Given the description of an element on the screen output the (x, y) to click on. 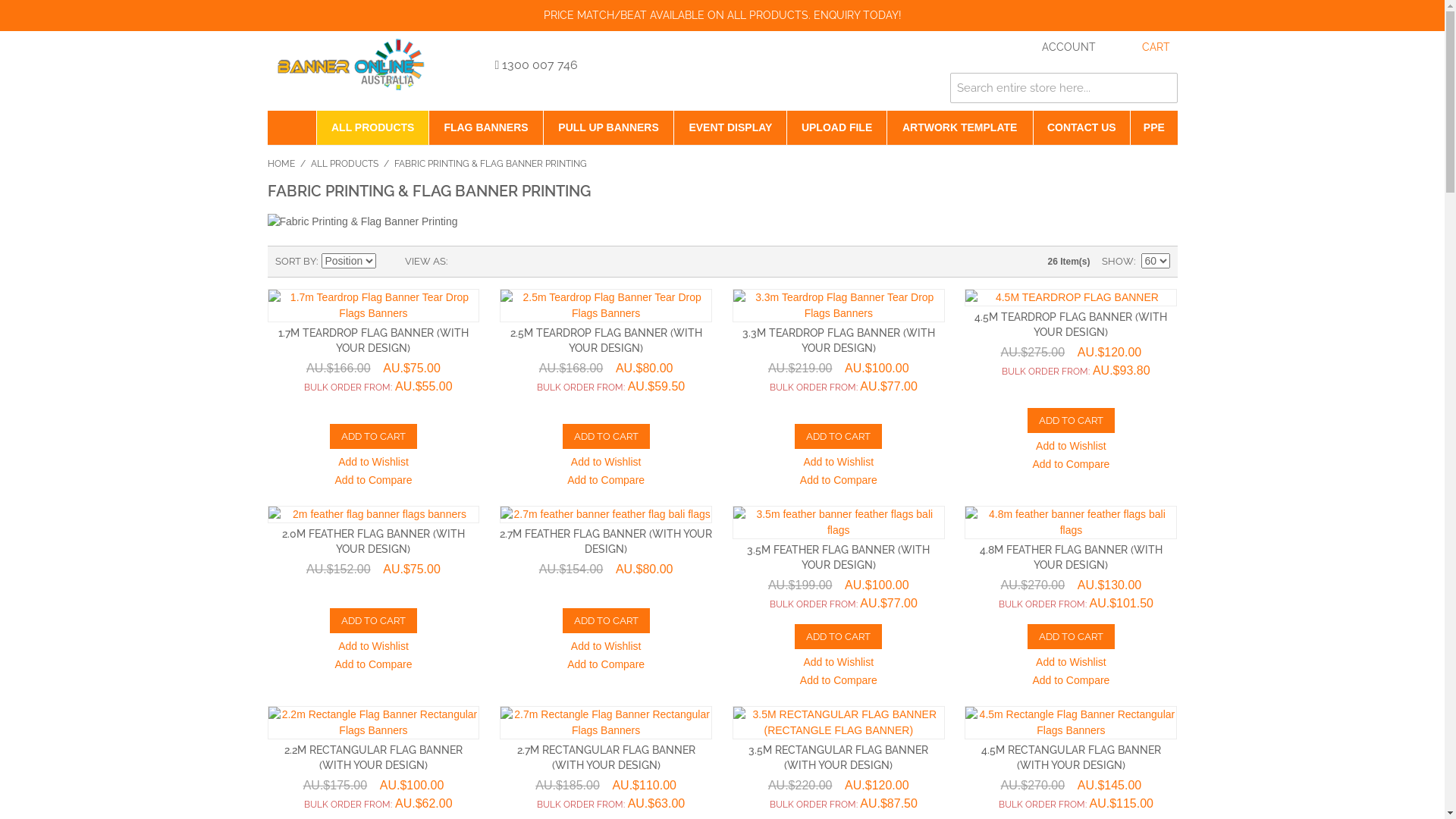
ADD TO CART Element type: text (1070, 636)
Add to Compare Element type: text (1070, 681)
Fabric Printing & Flag Banner Printing Element type: hover (721, 221)
ADD TO CART Element type: text (837, 435)
CONTACT US Element type: text (1081, 127)
ALL PRODUCTS Element type: text (344, 163)
BULK ORDER FROM: AU.$93.80 Element type: text (1070, 370)
Home Element type: hover (291, 127)
BULK ORDER FROM: AU.$87.50 Element type: text (838, 803)
PULL UP BANNERS Element type: text (608, 127)
ADD TO CART Element type: text (837, 636)
3.5M RECTANGULAR FLAG BANNER (WITH YOUR DESIGN) Element type: text (838, 757)
3.5M FEATHER FLAG BANNER (WITH YOUR DESIGN) Element type: text (837, 557)
ADD TO CART Element type: text (373, 620)
2.2m Rectangle Flag Banner Rectangular Flags Banners Element type: hover (372, 722)
BULK ORDER FROM: AU.$62.00 Element type: text (372, 803)
3.5M RECTANGULAR FLAG BANNER (RECTANGLE FLAG BANNER)  Element type: hover (838, 722)
CART Element type: text (1140, 47)
HOME Element type: text (280, 163)
Add to Wishlist Element type: text (605, 463)
2m feather flag banner flags banners Element type: hover (372, 514)
2.7m Rectangle Flag Banner Rectangular Flags Banners Element type: hover (605, 722)
Add to Wishlist Element type: text (1070, 447)
Add to Compare Element type: text (1070, 465)
ALL PRODUCTS Element type: text (372, 127)
Add to Wishlist Element type: text (373, 463)
2.2M RECTANGULAR FLAG BANNER (WITH YOUR DESIGN) Element type: text (373, 757)
ADD TO CART Element type: text (605, 435)
3.3M TEARDROP FLAG BANNER (WITH YOUR DESIGN) Element type: text (838, 340)
PPE Element type: text (1153, 127)
BULK ORDER FROM: AU.$77.00 Element type: text (838, 386)
Add to Compare Element type: text (838, 481)
Add to Wishlist Element type: text (373, 647)
1.7M TEARDROP FLAG BANNER (WITH YOUR DESIGN) Element type: text (373, 340)
ARTWORK TEMPLATE Element type: text (959, 127)
Add to Compare Element type: text (373, 481)
UPLOAD FILE Element type: text (836, 127)
ADD TO CART Element type: text (605, 620)
4.5M TEARDROP FLAG BANNER Element type: hover (1070, 297)
ACCOUNT Element type: text (1053, 47)
List Element type: text (488, 261)
Add to Wishlist Element type: text (1070, 663)
BULK ORDER FROM: AU.$59.50 Element type: text (605, 386)
ADD TO CART Element type: text (1070, 420)
Add to Wishlist Element type: text (837, 463)
Add to Compare Element type: text (605, 481)
BULK ORDER FROM: AU.$101.50 Element type: text (1070, 603)
ADD TO CART Element type: text (373, 435)
2.7M RECTANGULAR FLAG BANNER (WITH YOUR DESIGN) Element type: text (606, 757)
BULK ORDER FROM: AU.$77.00 Element type: text (838, 603)
4.5m Rectangle Flag Banner Rectangular Flags Banners Element type: hover (1070, 722)
2.5m Teardrop Flag Banner Tear Drop Flags Banners Element type: hover (605, 305)
4.8M FEATHER FLAG BANNER (WITH YOUR DESIGN) Element type: text (1070, 557)
Add to Wishlist Element type: text (605, 647)
4.5M TEARDROP FLAG BANNER (WITH YOUR DESIGN) Element type: text (1070, 324)
1.7m Teardrop Flag Banner Tear Drop Flags Banners Element type: hover (372, 305)
Add to Compare Element type: text (605, 665)
2.7m feather banner feather flag bali flags Element type: hover (605, 514)
2.0M FEATHER FLAG BANNER (WITH YOUR DESIGN) Element type: text (373, 541)
Add to Compare Element type: text (838, 681)
2.5M TEARDROP FLAG BANNER (WITH YOUR DESIGN) Element type: text (606, 340)
EVENT DISPLAY Element type: text (730, 127)
Add to Wishlist Element type: text (837, 663)
BULK ORDER FROM: AU.$115.00 Element type: text (1070, 803)
FLAG BANNERS Element type: text (485, 127)
3.3m Teardrop Flag Banner Tear Drop Flags Banners Element type: hover (838, 305)
BULK ORDER FROM: AU.$55.00 Element type: text (372, 386)
2.7M FEATHER FLAG BANNER (WITH YOUR DESIGN) Element type: text (605, 541)
Set Descending Direction Element type: text (388, 261)
BULK ORDER FROM: AU.$63.00 Element type: text (605, 803)
4.8m feather banner feather flags bali flags Element type: hover (1070, 522)
Search Element type: hover (1161, 87)
3.5m feather banner feather flags bali flags Element type: hover (838, 522)
Add to Compare Element type: text (373, 665)
4.5M RECTANGULAR FLAG BANNER (WITH YOUR DESIGN) Element type: text (1071, 757)
